Given the description of an element on the screen output the (x, y) to click on. 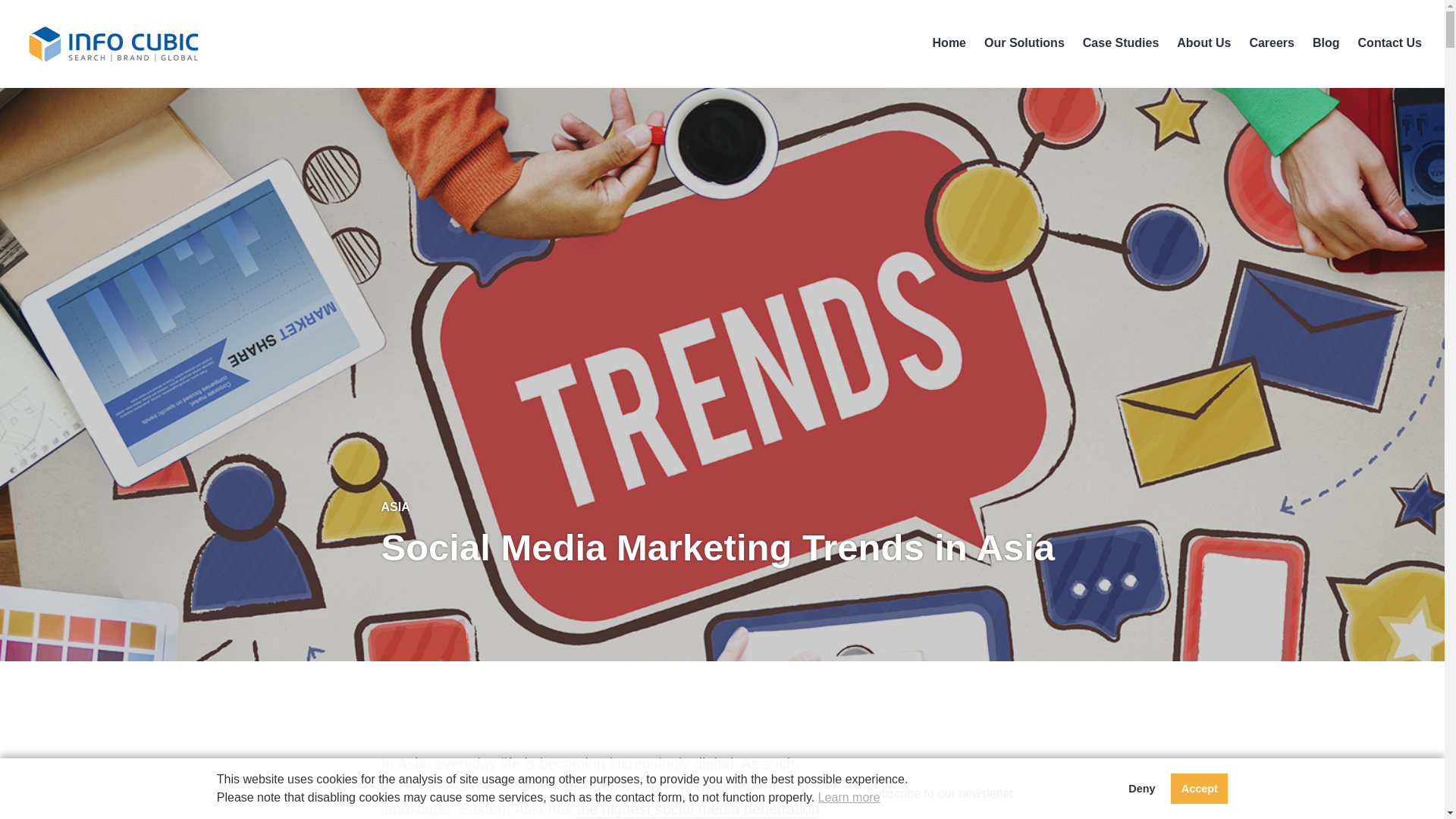
About Us (1203, 43)
the highest social media penetration rate (599, 809)
Blog (1326, 43)
Info Cubic Japan Blog (122, 85)
Contact Us (1390, 43)
Home (949, 43)
ASIA (394, 506)
Our Solutions (1024, 43)
Careers (1271, 43)
Case Studies (1120, 43)
